Given the description of an element on the screen output the (x, y) to click on. 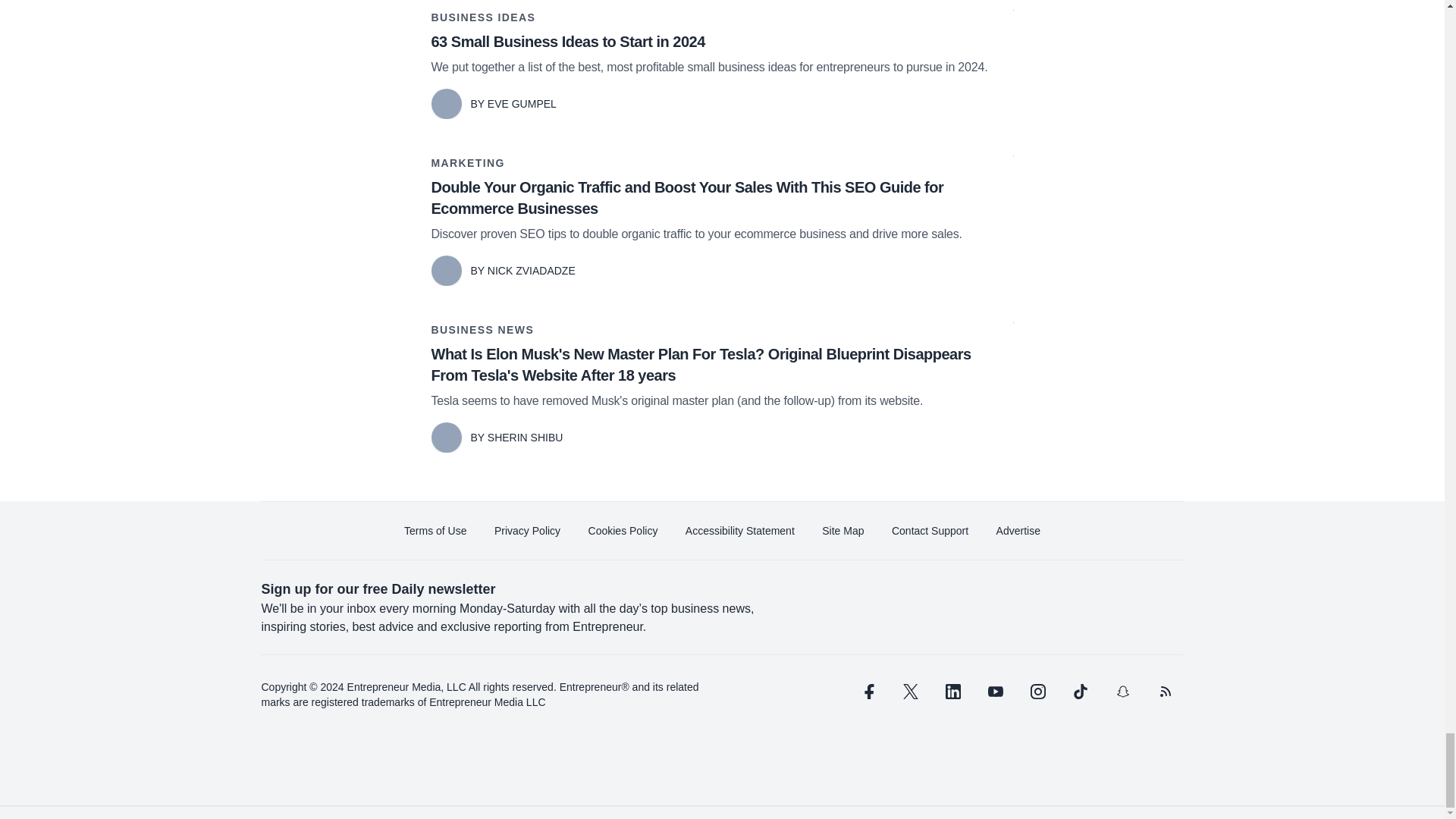
youtube (994, 691)
tiktok (1079, 691)
instagram (1037, 691)
twitter (909, 691)
facebook (866, 691)
linkedin (952, 691)
snapchat (1121, 691)
